Given the description of an element on the screen output the (x, y) to click on. 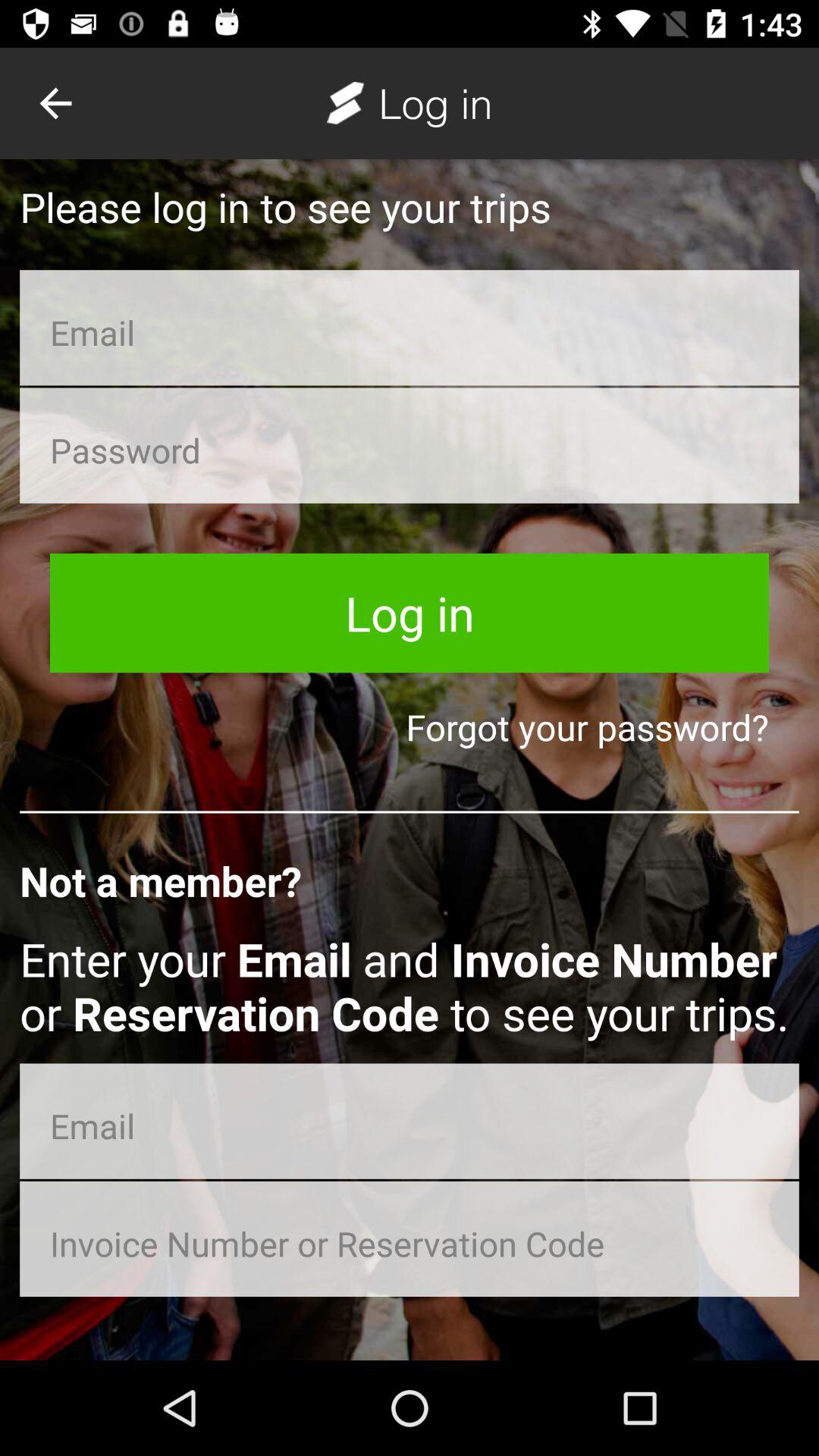
type invoice number or reservation code (409, 1238)
